Given the description of an element on the screen output the (x, y) to click on. 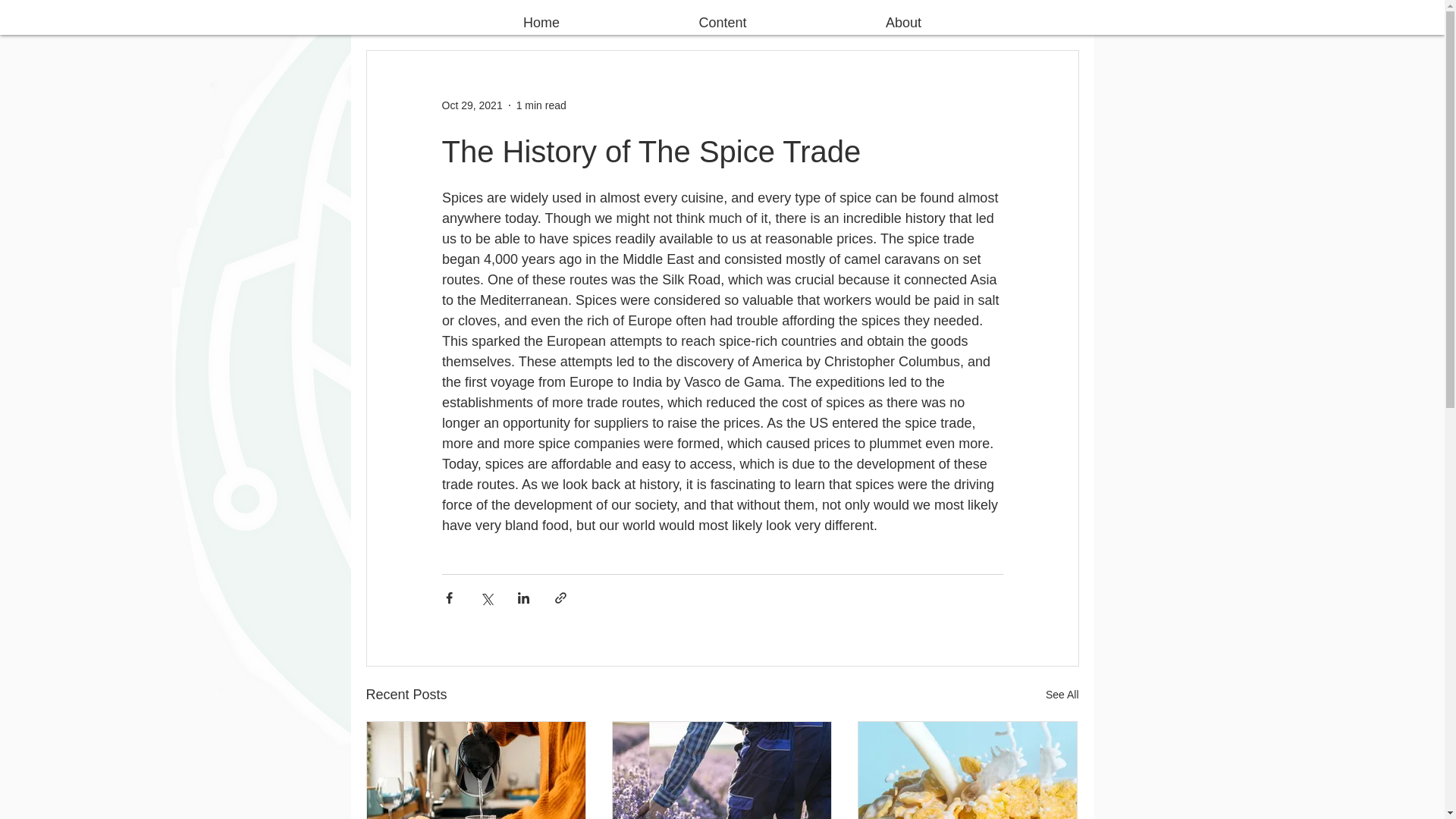
Content (722, 17)
1 min read (541, 104)
Oct 29, 2021 (471, 104)
See All (1061, 694)
About (902, 17)
Home (540, 17)
